Given the description of an element on the screen output the (x, y) to click on. 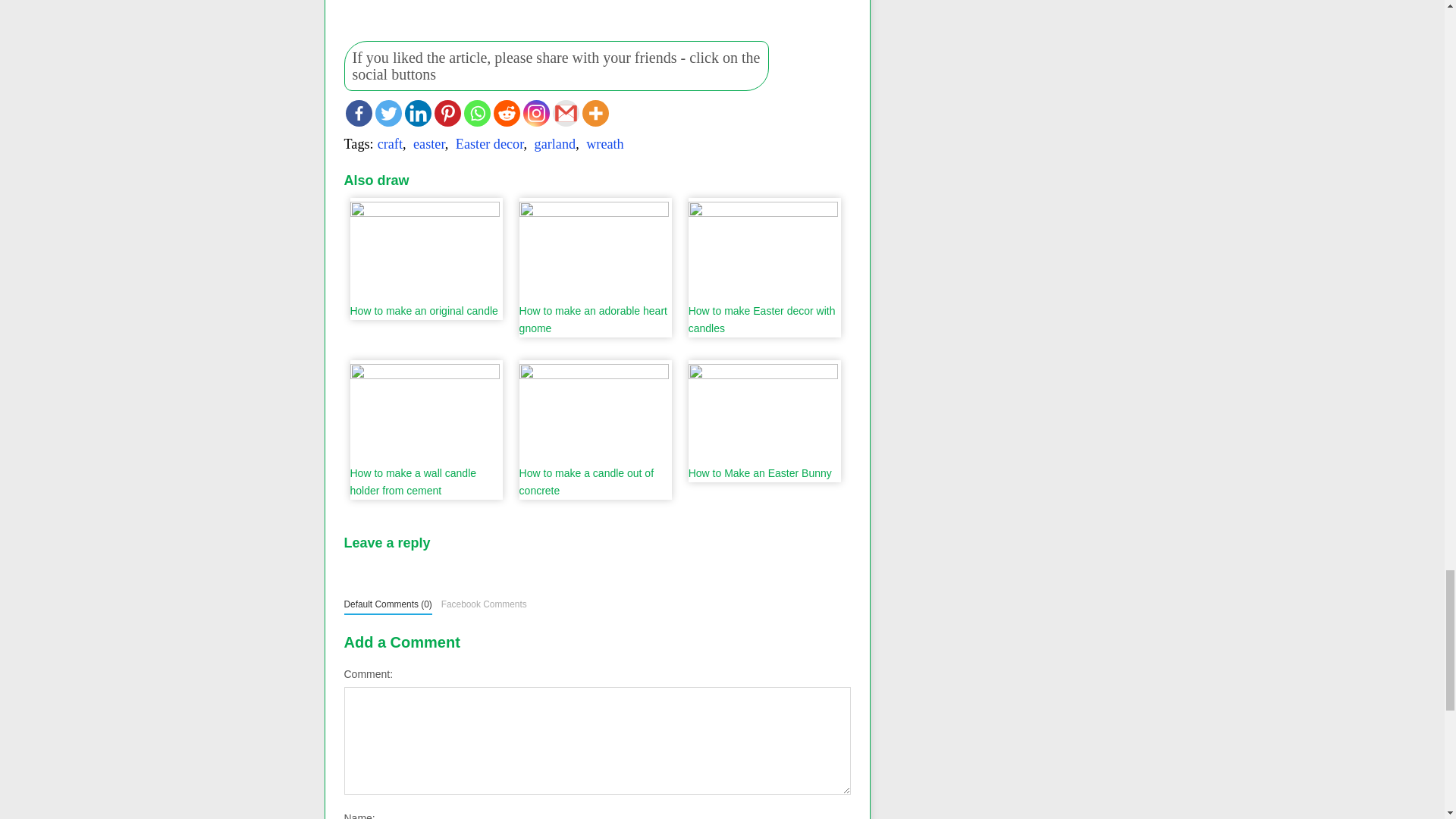
Twitter (387, 112)
Linkedin (417, 112)
Whatsapp (477, 112)
Easter decor (489, 143)
More (595, 112)
Pinterest (446, 112)
wreath (604, 143)
craft (390, 143)
Instagram (536, 112)
easter (429, 143)
How to make an original candle (424, 259)
garland (555, 143)
Facebook (359, 112)
Google Gmail (564, 112)
Reddit (506, 112)
